Given the description of an element on the screen output the (x, y) to click on. 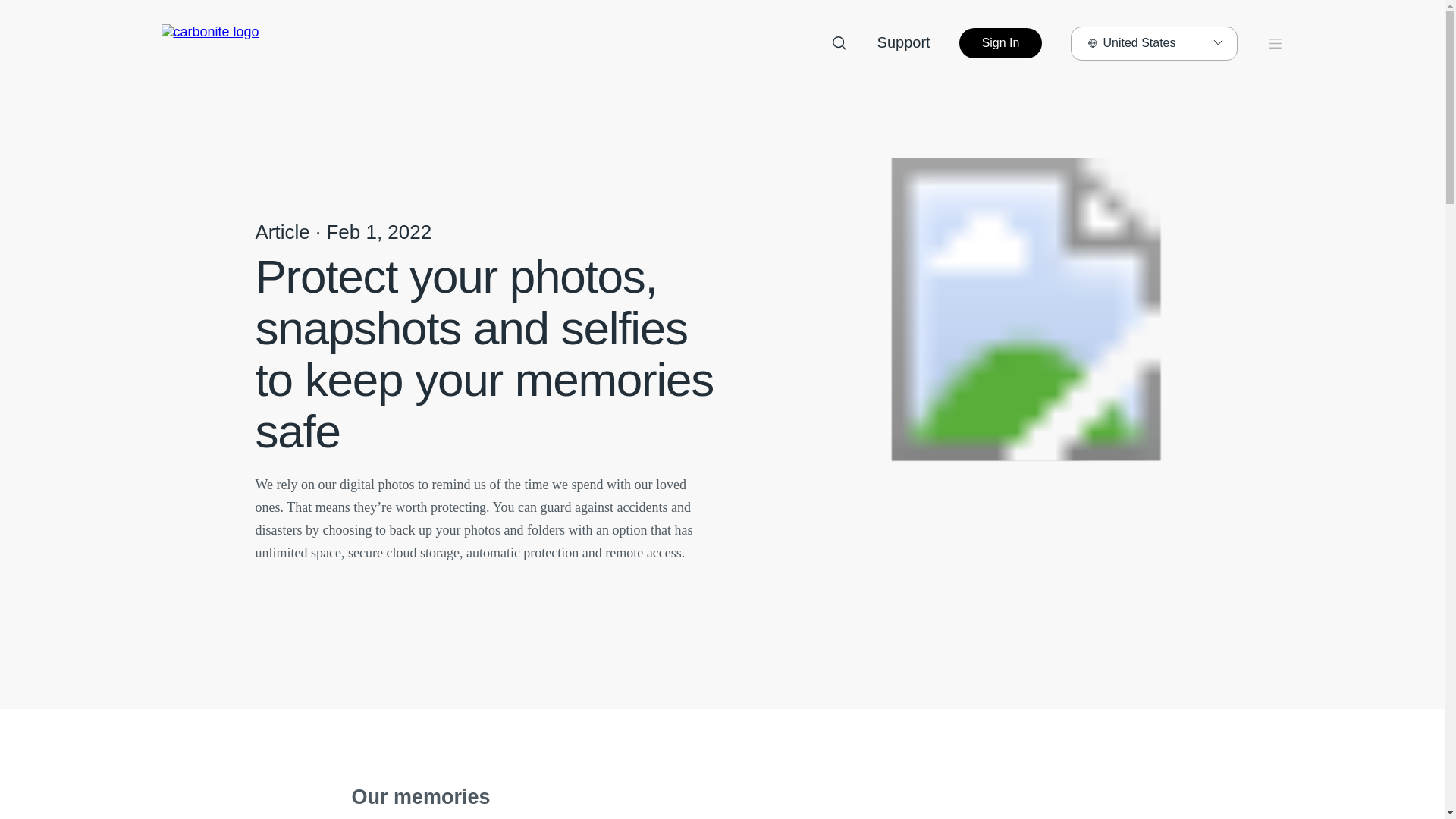
Support (903, 42)
Sign In (1000, 42)
Support (903, 42)
Sign In (1000, 42)
United States (1153, 42)
